Given the description of an element on the screen output the (x, y) to click on. 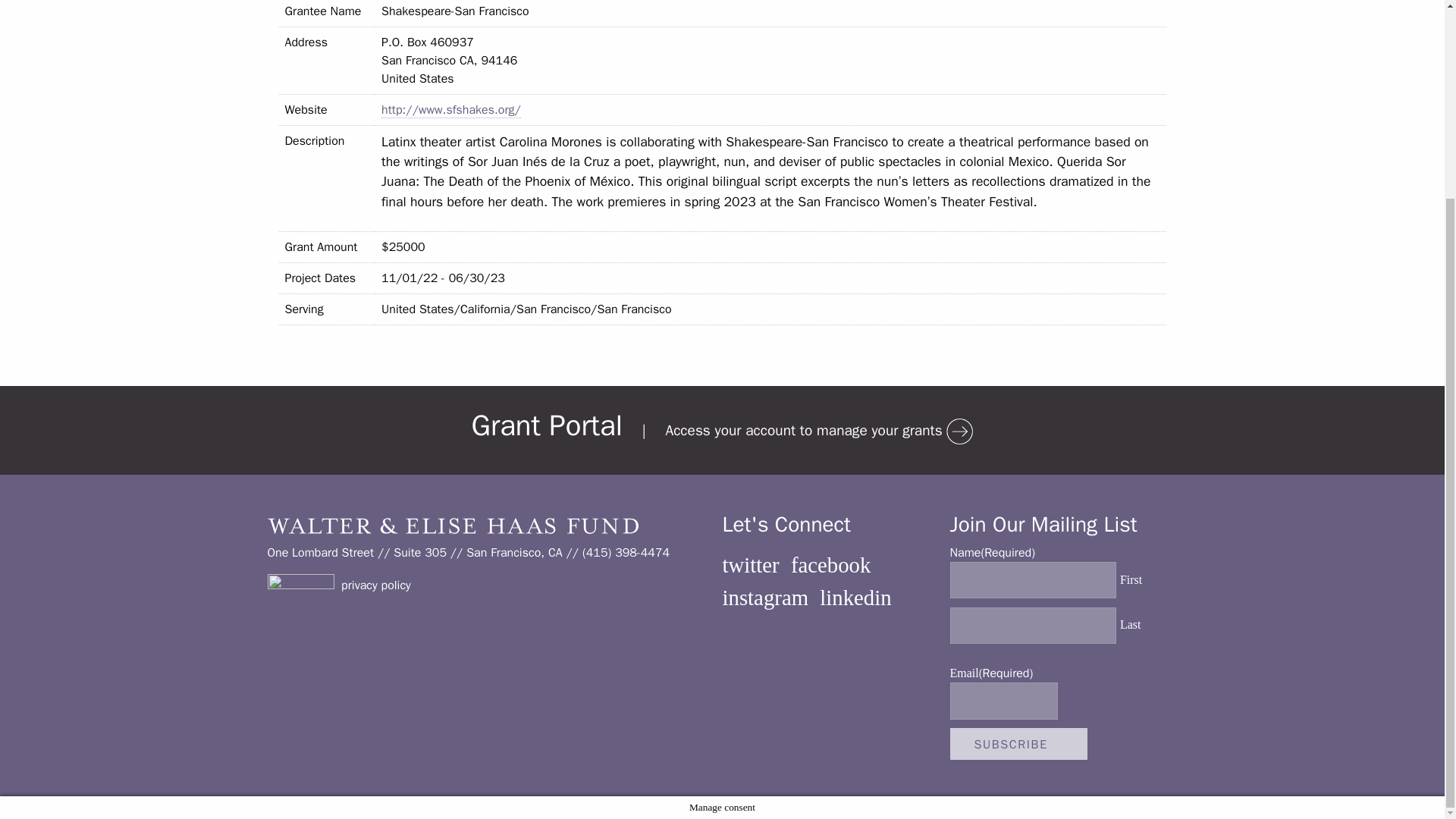
linkedin (855, 597)
instagram (765, 597)
privacy policy (375, 585)
twitter (750, 564)
SUBSCRIBE (1017, 744)
facebook (830, 564)
